Given the description of an element on the screen output the (x, y) to click on. 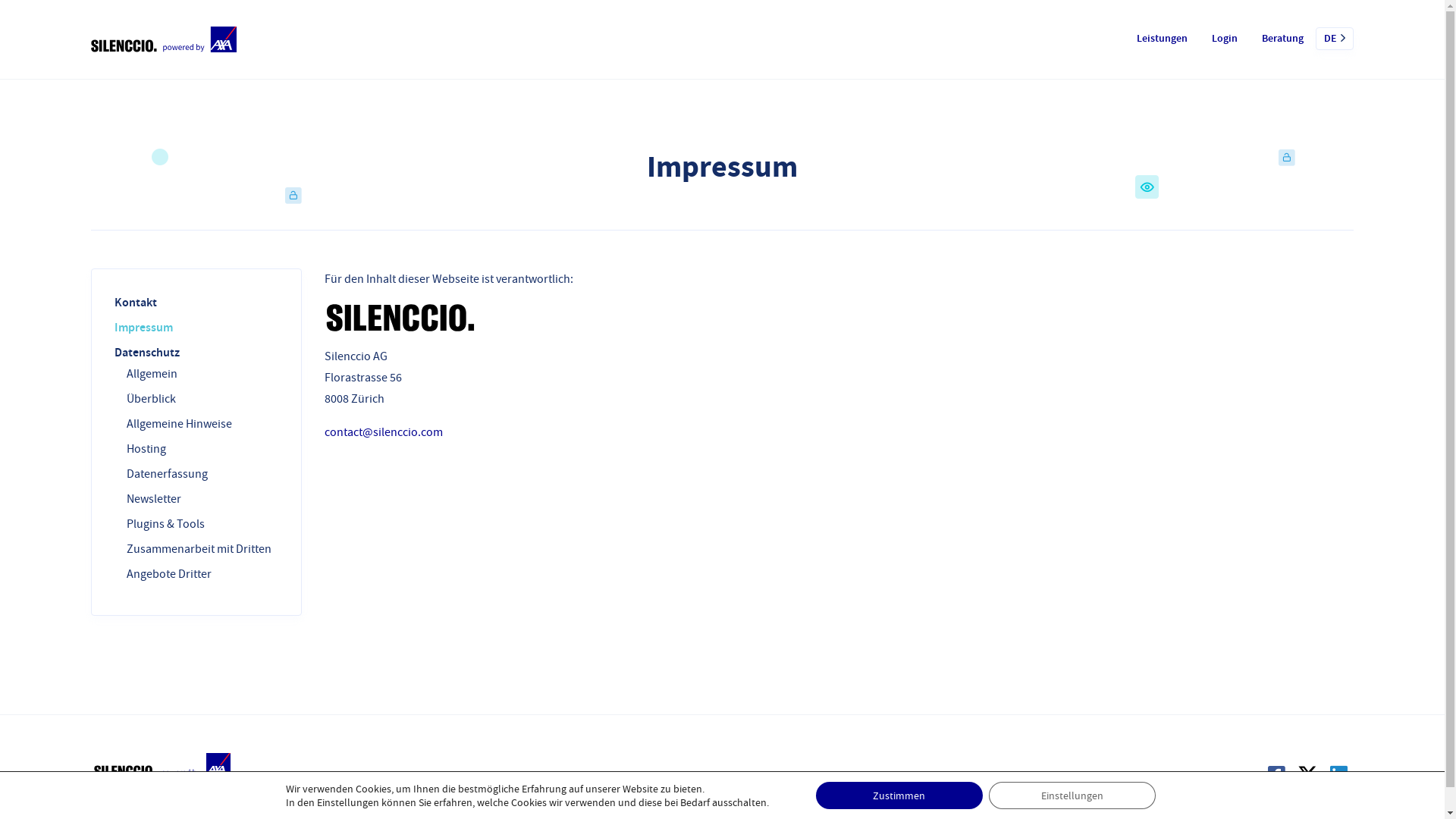
JOBS Element type: text (556, 777)
Datenerfassung Element type: text (166, 473)
Newsletter Element type: text (153, 498)
Silenccio powered by AXA Element type: hover (295, 39)
Hosting Element type: text (146, 448)
NUTZUNGSHINWEISE Element type: text (746, 777)
Facebook Element type: hover (1276, 774)
Zusammenarbeit mit Dritten Element type: text (198, 548)
Einstellungen Element type: text (1071, 795)
Allgemeine Hinweise Element type: text (179, 423)
Datenschutz Element type: text (146, 352)
LinkedIn Element type: hover (1338, 774)
Leistungen Element type: text (1161, 38)
KONTAKT Element type: text (511, 777)
Allgemein Element type: text (151, 373)
NEWS Element type: text (592, 777)
Plugins & Tools Element type: text (165, 523)
Kontakt Element type: text (135, 302)
Twitter Element type: hover (1307, 774)
contact@silenccio.com Element type: text (383, 431)
DISCLAIMER Element type: text (927, 777)
DE Element type: text (1334, 38)
Impressum Element type: text (143, 327)
Angebote Dritter Element type: text (168, 573)
Beratung Element type: text (1282, 38)
Login Element type: text (1224, 38)
Zustimmen Element type: text (898, 795)
DATENSCHUTZ Element type: text (652, 777)
